Given the description of an element on the screen output the (x, y) to click on. 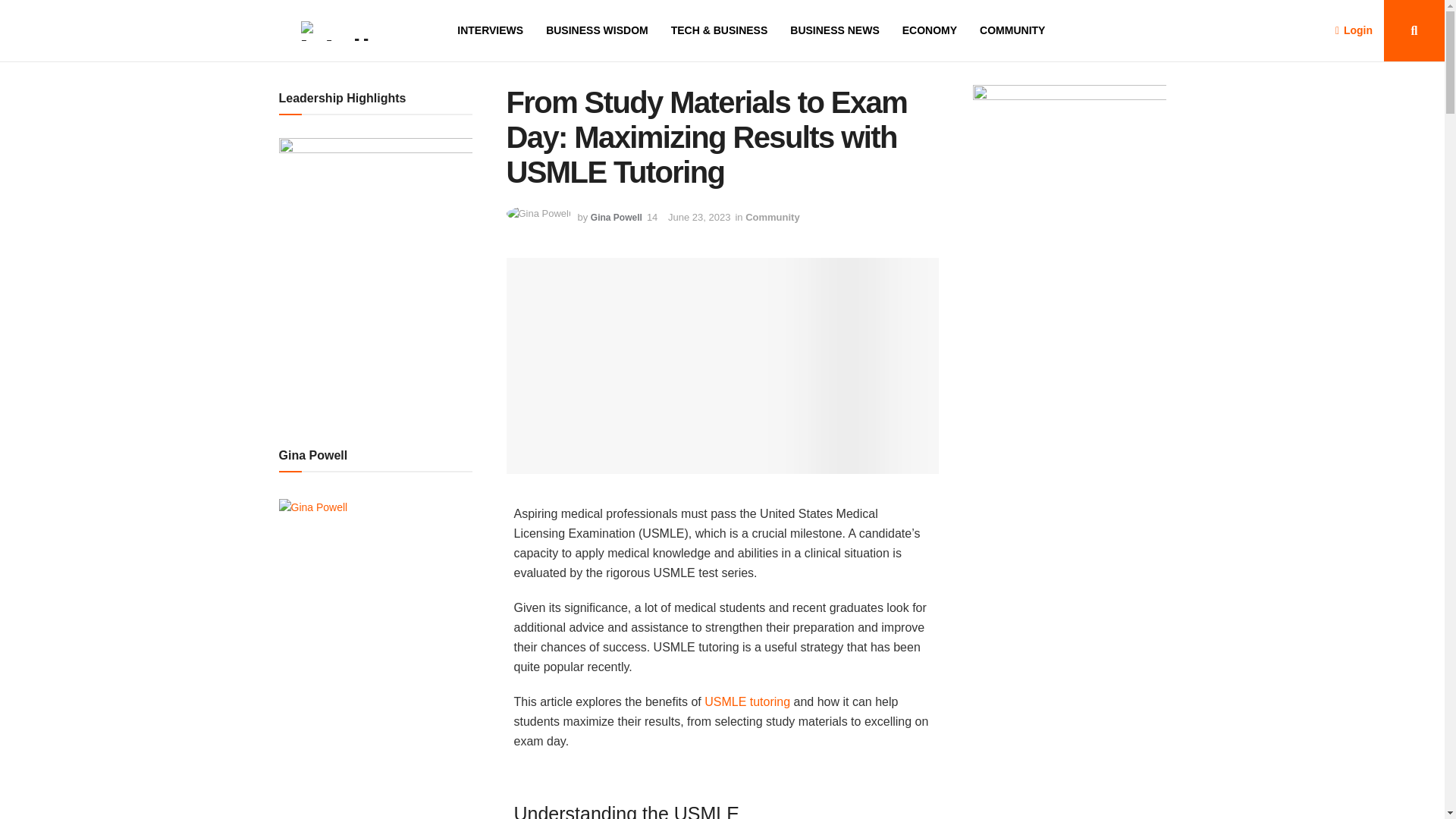
BUSINESS NEWS (834, 30)
June 23, 2023 (699, 216)
Gina Powell (616, 217)
Community (772, 216)
BUSINESS WISDOM (596, 30)
USMLE tutoring (747, 701)
ECONOMY (929, 30)
INTERVIEWS (489, 30)
COMMUNITY (1012, 30)
